Given the description of an element on the screen output the (x, y) to click on. 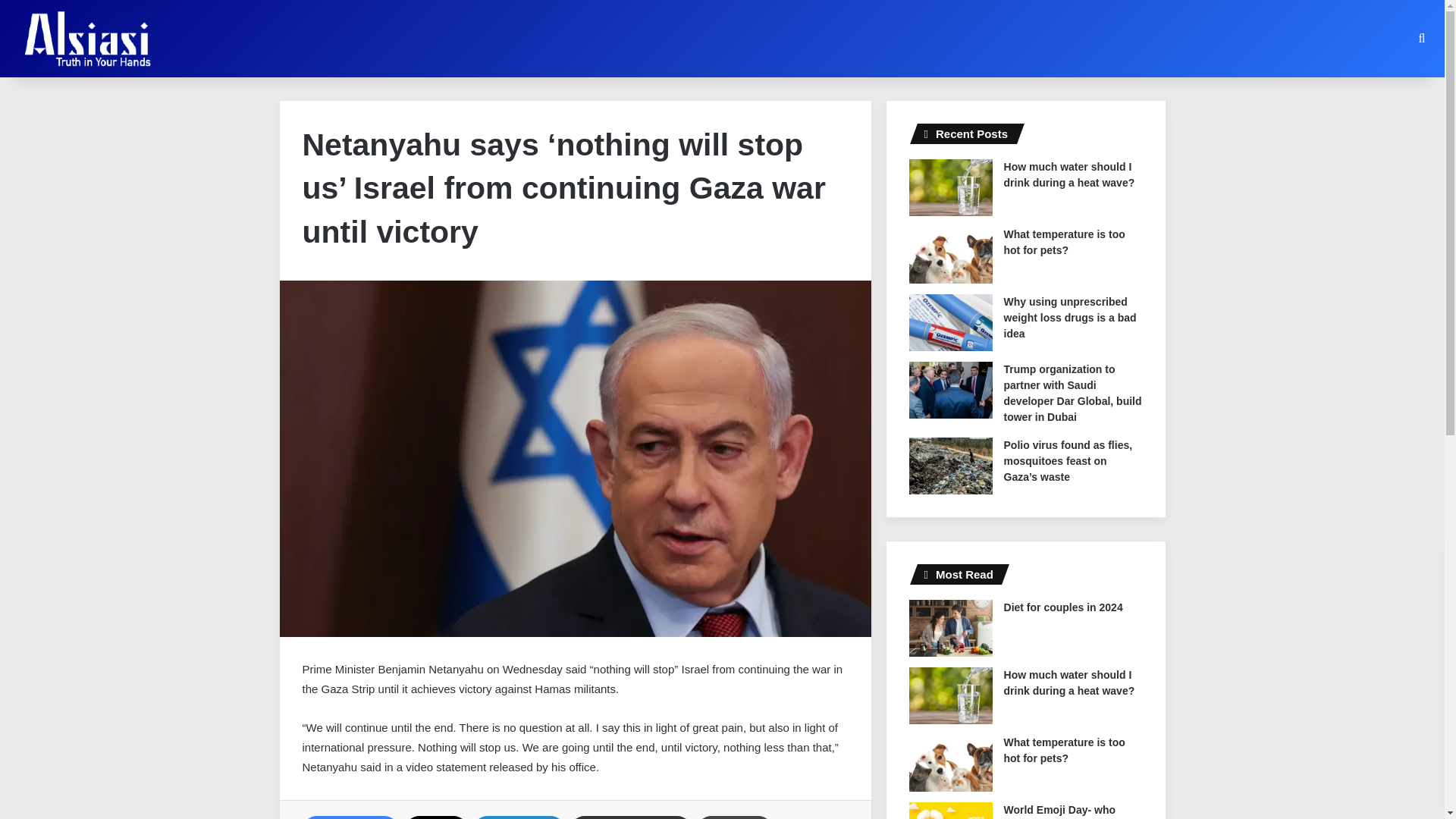
Facebook (349, 817)
Print (735, 817)
How much water should I drink during a heat wave? (1069, 174)
X (435, 817)
Share via Email (630, 817)
LinkedIn (518, 817)
Share via Email (630, 817)
Print (735, 817)
LinkedIn (518, 817)
X (435, 817)
What temperature is too hot for pets? (1064, 242)
Facebook (349, 817)
Why using unprescribed weight loss drugs is a bad idea (1070, 317)
Alsiasi (87, 38)
